Given the description of an element on the screen output the (x, y) to click on. 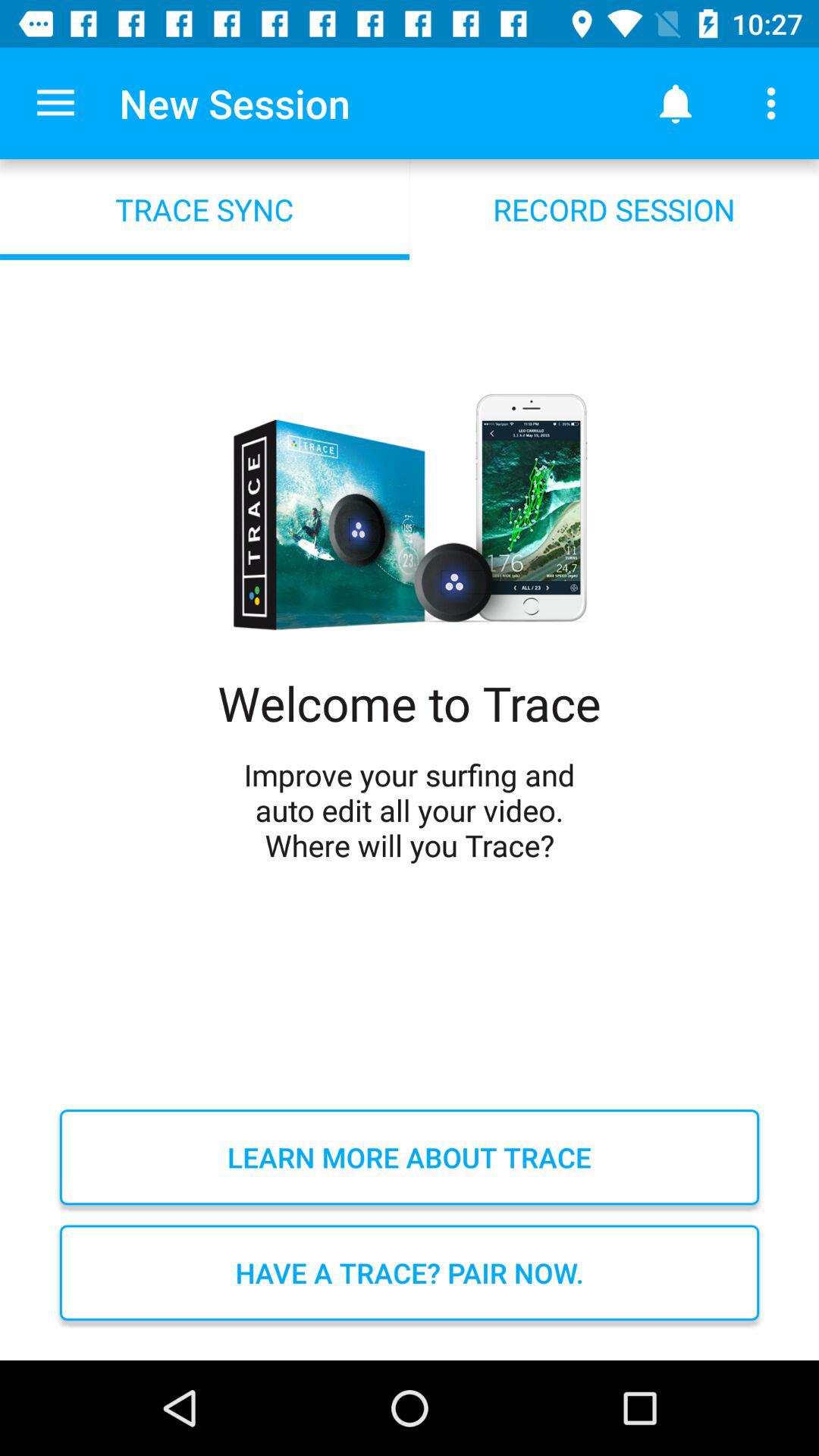
tap learn more about icon (409, 1157)
